Given the description of an element on the screen output the (x, y) to click on. 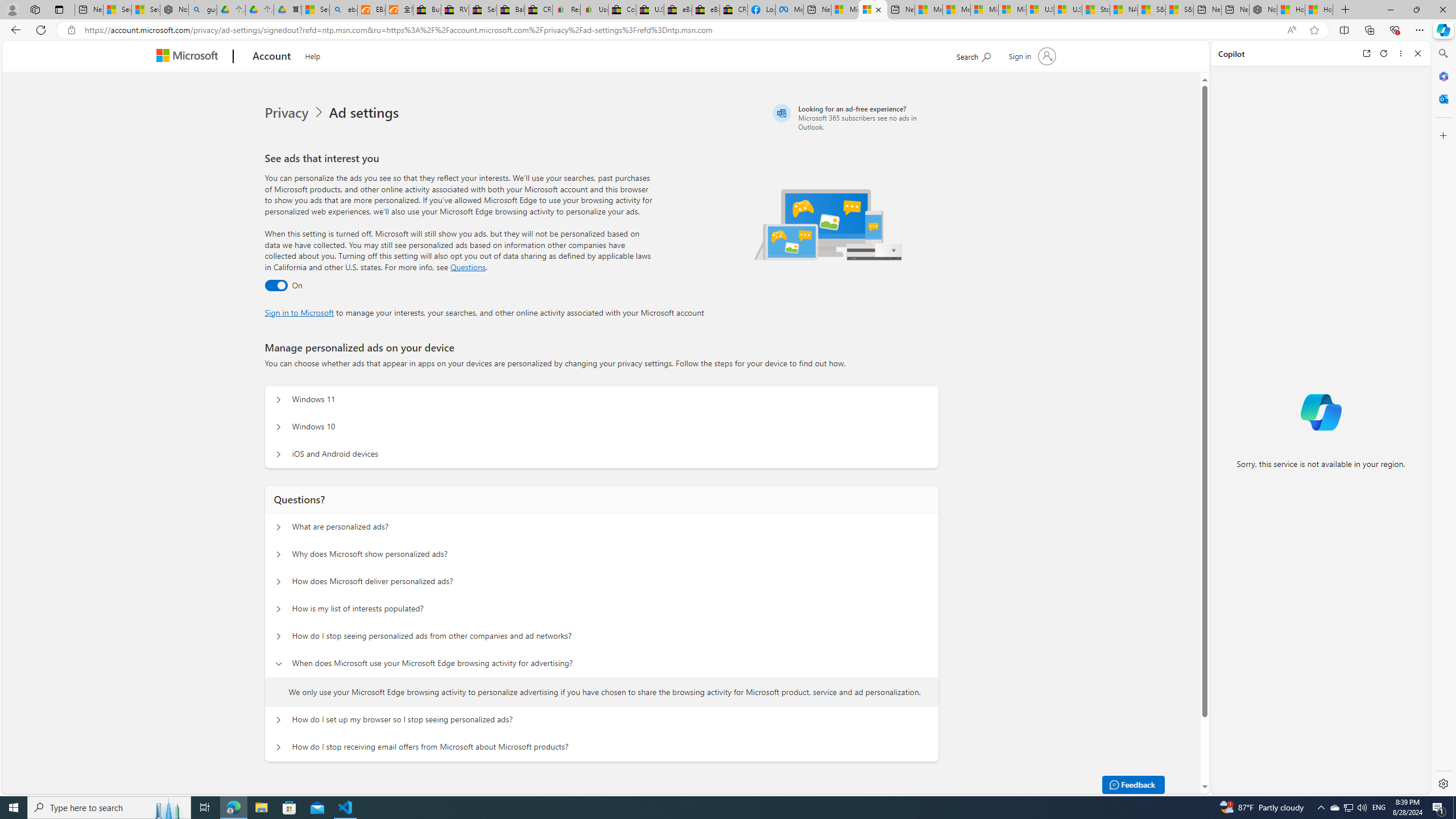
Microsoft account | Privacy (872, 9)
Sign in to Microsoft (299, 311)
Help (312, 54)
Buy Auto Parts & Accessories | eBay (426, 9)
Register: Create a personal eBay account (566, 9)
How to Use a Monitor With Your Closed Laptop (1319, 9)
Meta Store (789, 9)
Open link in new tab (1366, 53)
Questions? How is my list of interests populated? (278, 608)
